Given the description of an element on the screen output the (x, y) to click on. 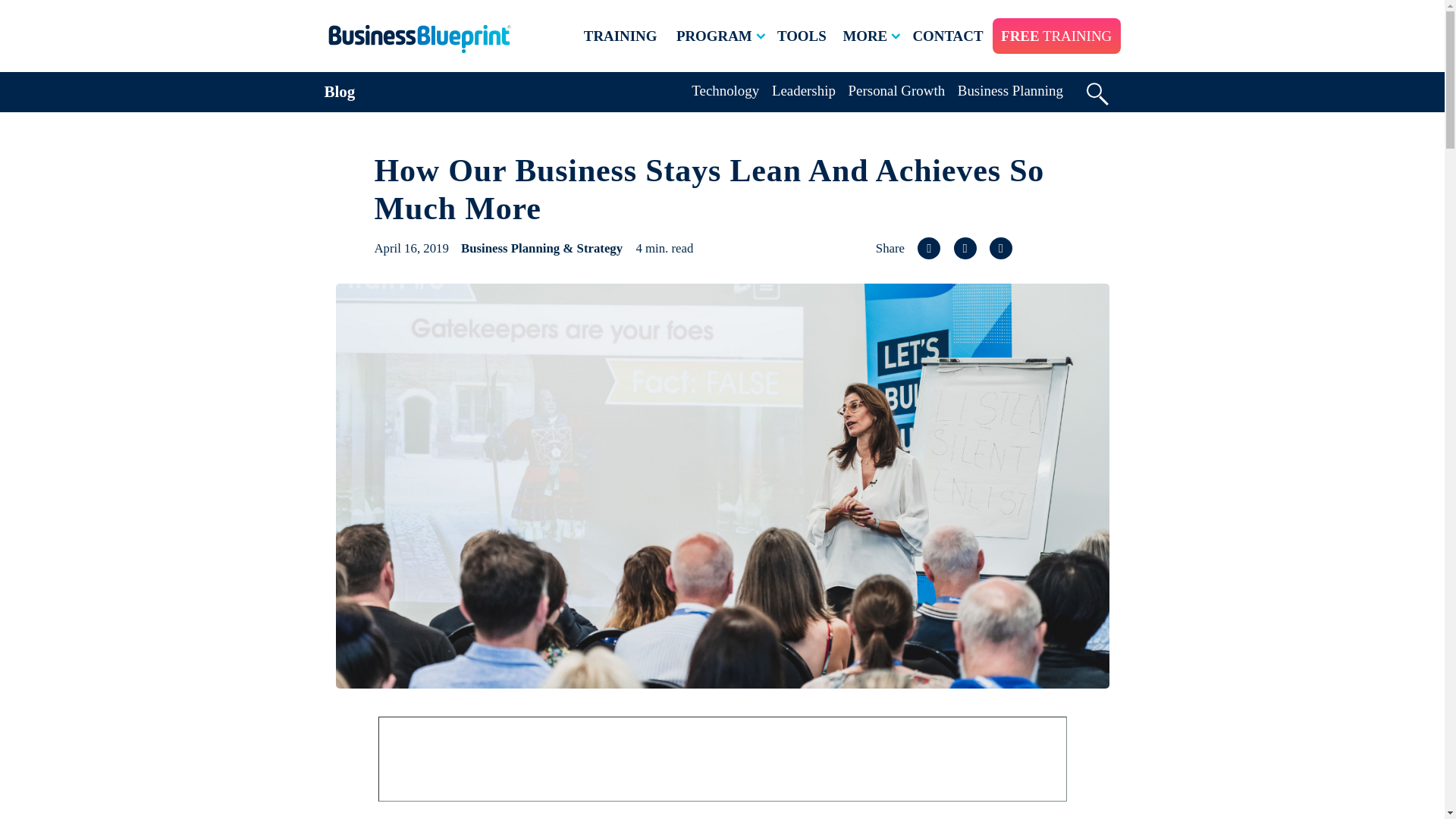
Business Planning (1010, 90)
Return to homepage (418, 39)
Leadership (803, 90)
PROGRAM (722, 36)
Blog (339, 91)
Technology (724, 90)
TRAINING (620, 36)
TOOLS (802, 36)
FREE TRAINING (1056, 36)
MORE (872, 36)
